Given the description of an element on the screen output the (x, y) to click on. 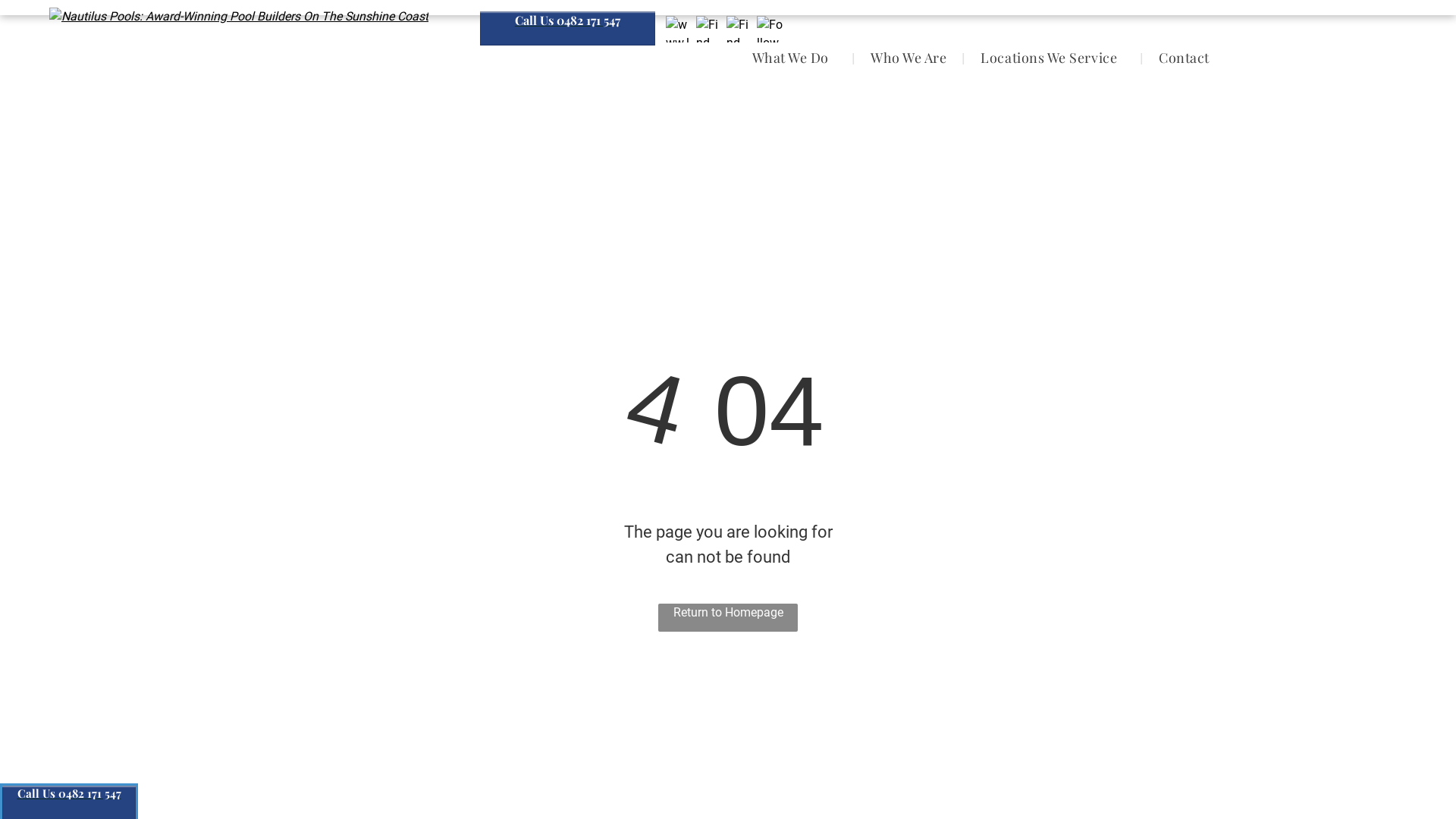
www.localsearch.com.au Element type: hover (678, 28)
Call Us 0482 171 547 Element type: text (567, 28)
What We Do Element type: text (794, 58)
Contact Element type: text (1183, 58)
Return to Homepage Element type: text (727, 617)
Follow Us On Instagram Element type: hover (769, 28)
Who We Are Element type: text (908, 58)
Find Us On GMB Element type: hover (739, 28)
Locations We Service Element type: text (1052, 58)
Find Us On Facebook Element type: hover (709, 28)
